Given the description of an element on the screen output the (x, y) to click on. 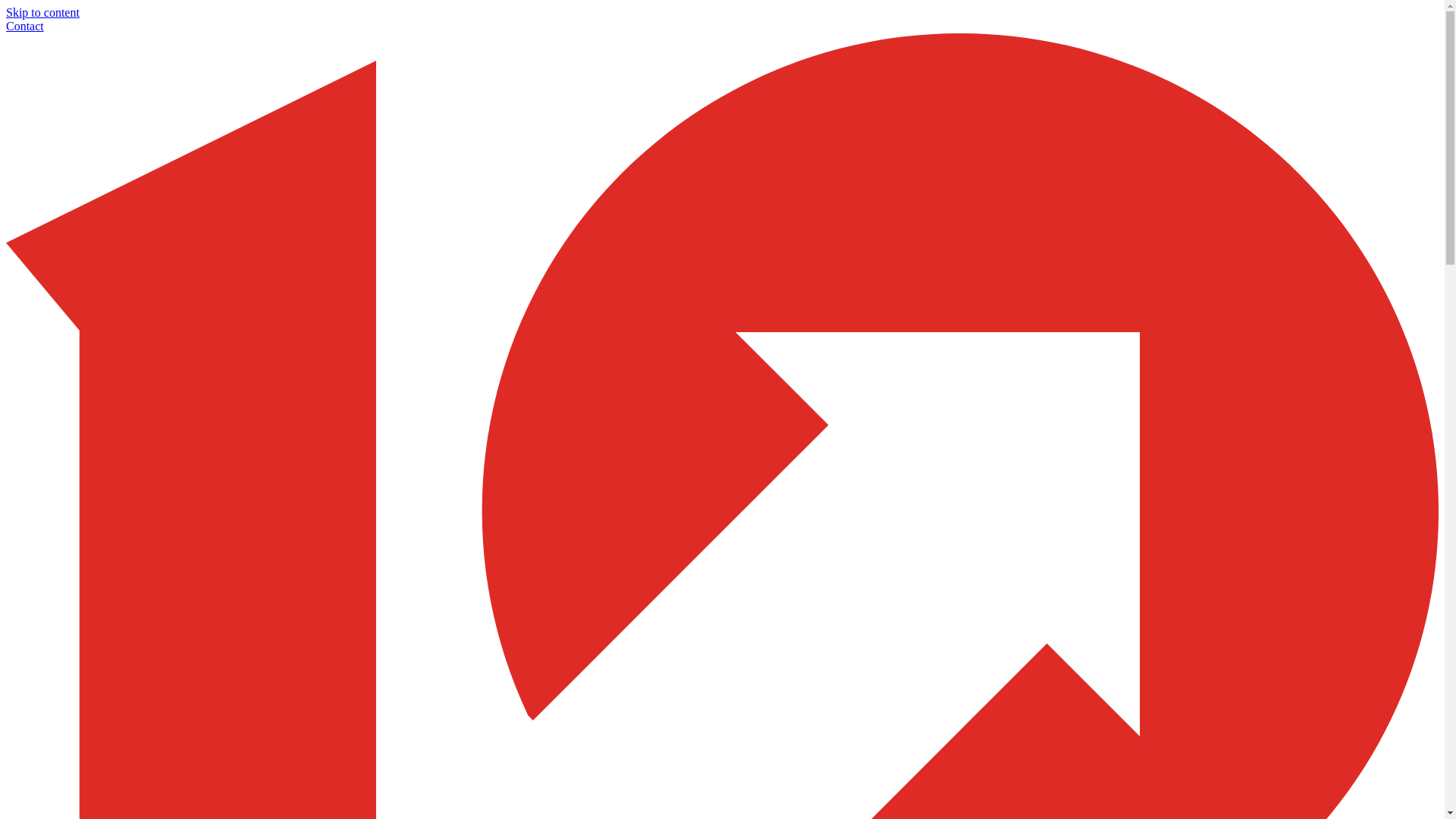
Contact Element type: text (24, 25)
Skip to content Element type: text (42, 12)
